Given the description of an element on the screen output the (x, y) to click on. 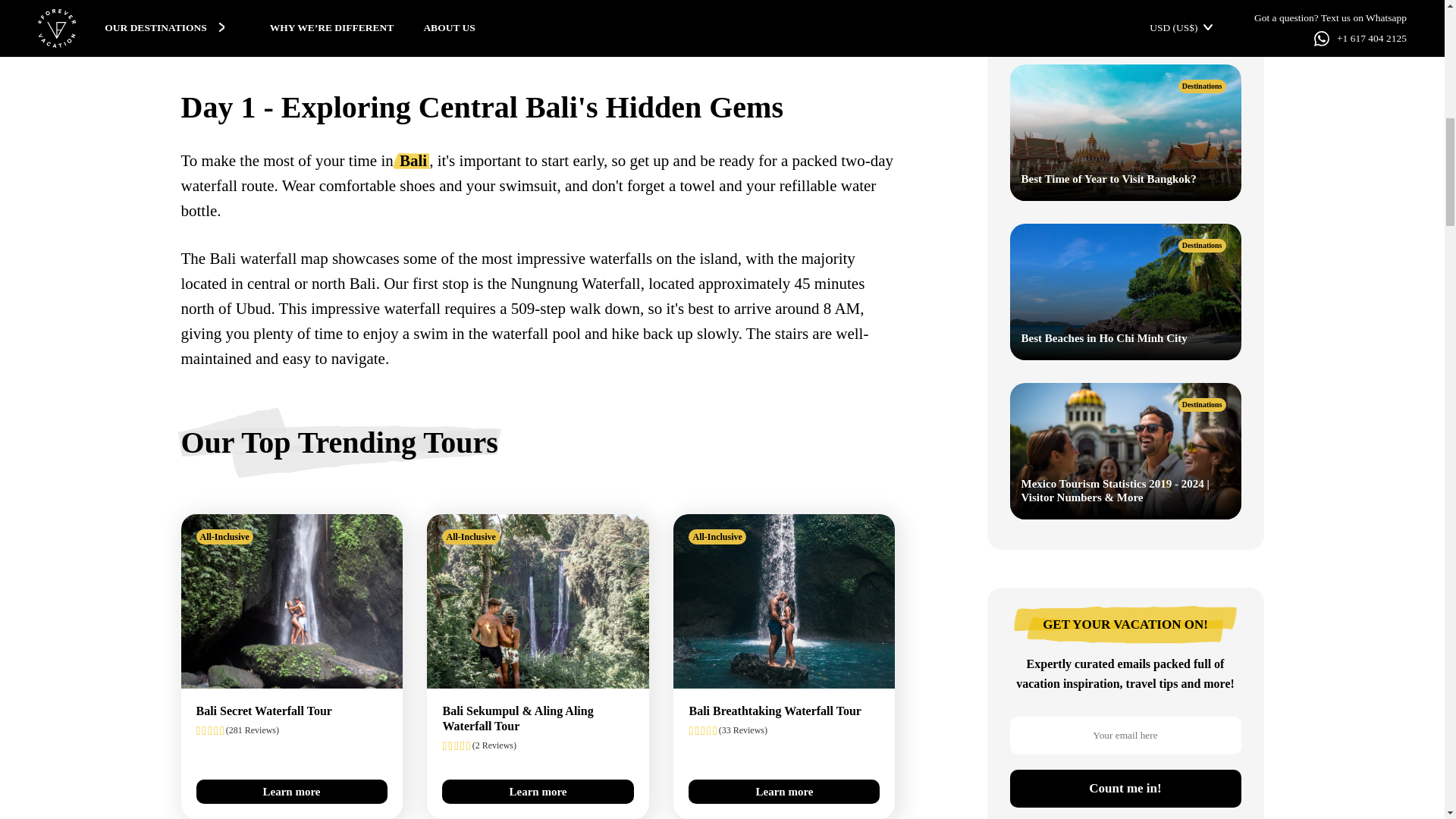
4.98 Stars - 281 Reviews (291, 730)
5 Stars - 2 Reviews (537, 744)
5 Stars - 33 Reviews (783, 730)
